Given the description of an element on the screen output the (x, y) to click on. 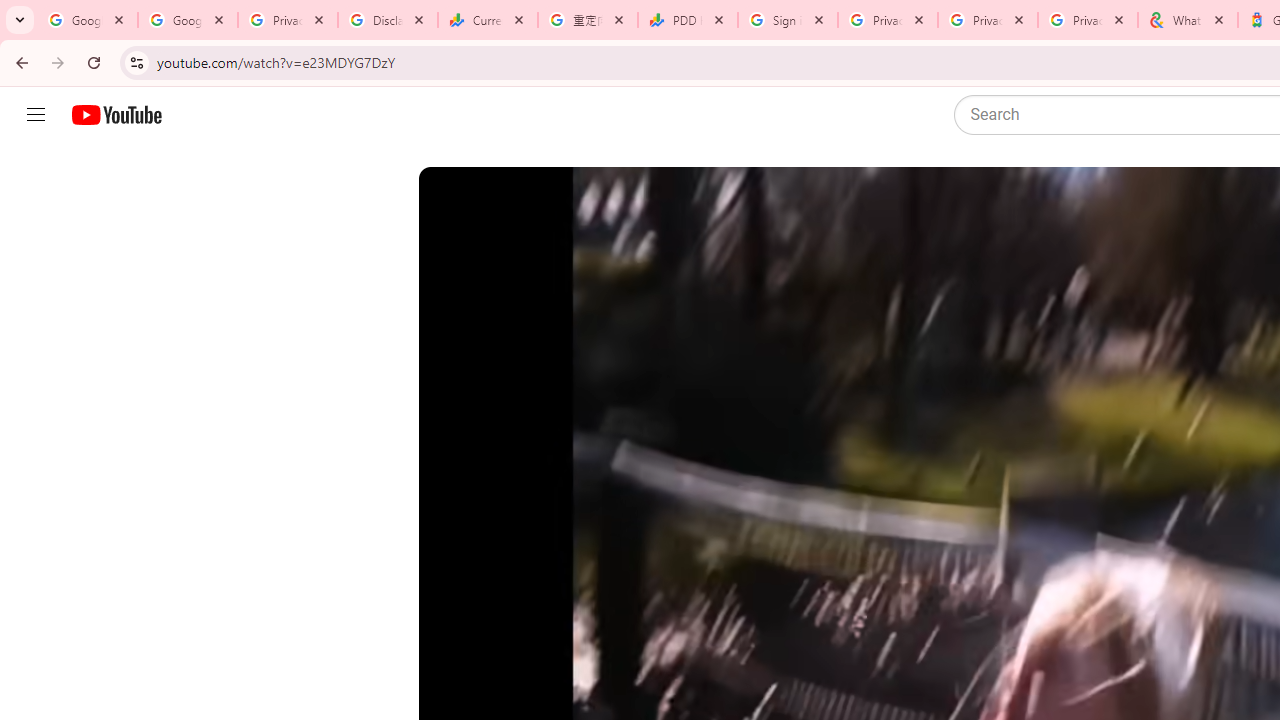
Guide (35, 115)
YouTube Home (116, 115)
Privacy Checkup (988, 20)
